Given the description of an element on the screen output the (x, y) to click on. 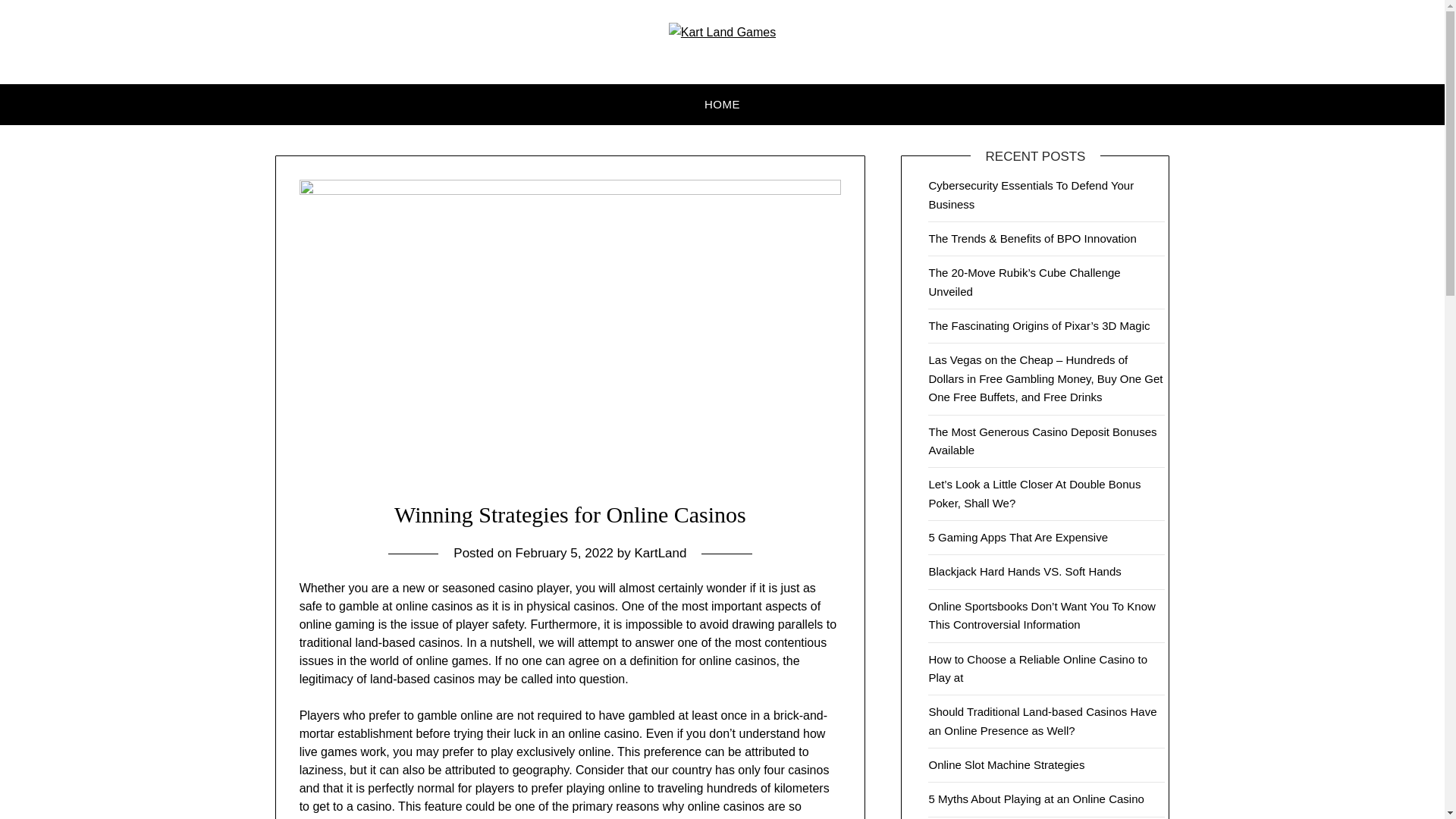
February 5, 2022 (563, 553)
Blackjack Hard Hands VS. Soft Hands (1024, 571)
5 Gaming Apps That Are Expensive (1018, 536)
Cybersecurity Essentials To Defend Your Business (1031, 194)
5 Myths About Playing at an Online Casino  (1037, 798)
Online Slot Machine Strategies (1006, 764)
HOME (722, 104)
How to Choose a Reliable Online Casino to Play at (1037, 667)
The Most Generous Casino Deposit Bonuses Available (1042, 440)
KartLand (659, 553)
